Given the description of an element on the screen output the (x, y) to click on. 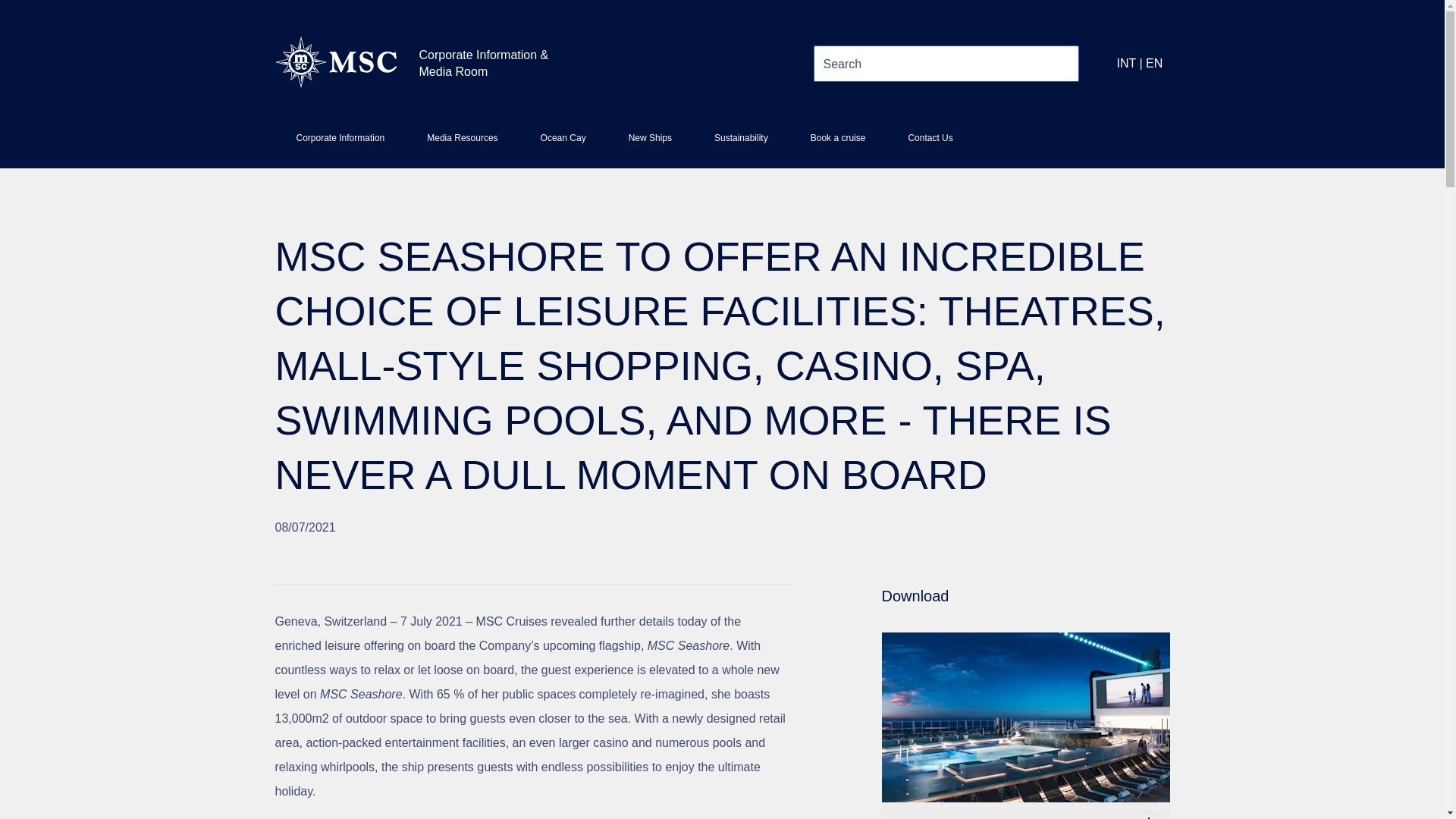
New Ships (650, 143)
Sustainability (741, 143)
Contact Us (930, 143)
Corporate Information (340, 143)
Book a cruise (837, 143)
Ocean Cay (563, 143)
Media Resources (462, 143)
